Given the description of an element on the screen output the (x, y) to click on. 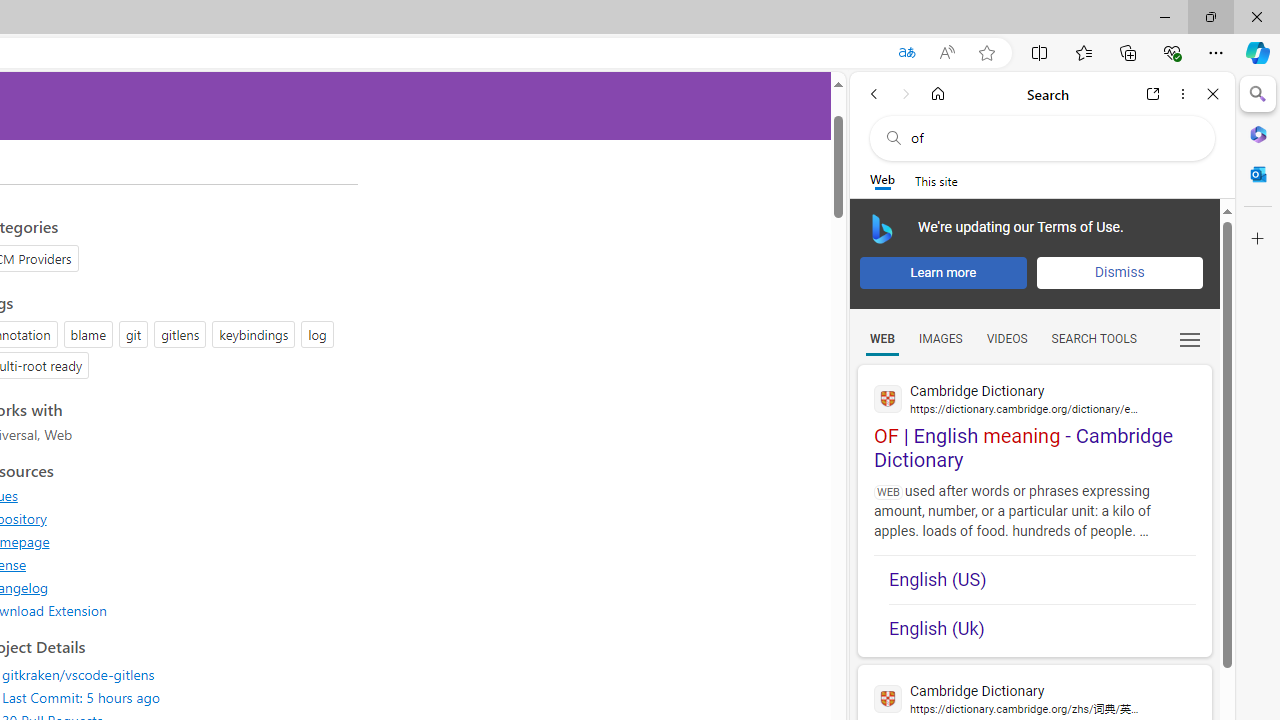
Search Filter, Search Tools (1093, 339)
Global web icon (888, 698)
Preferences (1189, 337)
SEARCH TOOLS (1093, 339)
Forward (906, 93)
English (Uk) (1042, 628)
Open link in new tab (1153, 93)
WEB   (882, 339)
Search Filter, VIDEOS (1006, 339)
